Given the description of an element on the screen output the (x, y) to click on. 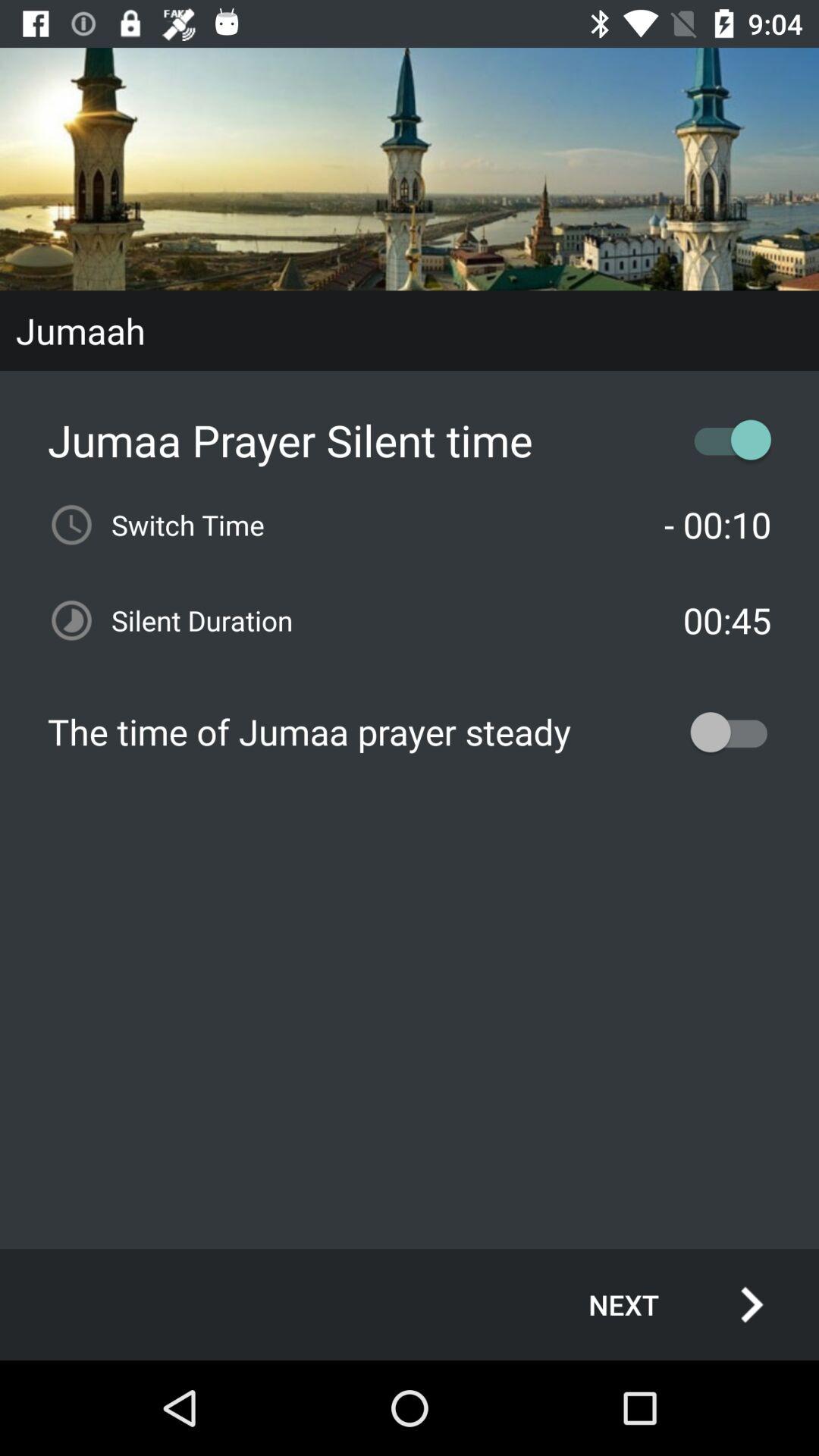
choose the next icon (659, 1304)
